Given the description of an element on the screen output the (x, y) to click on. 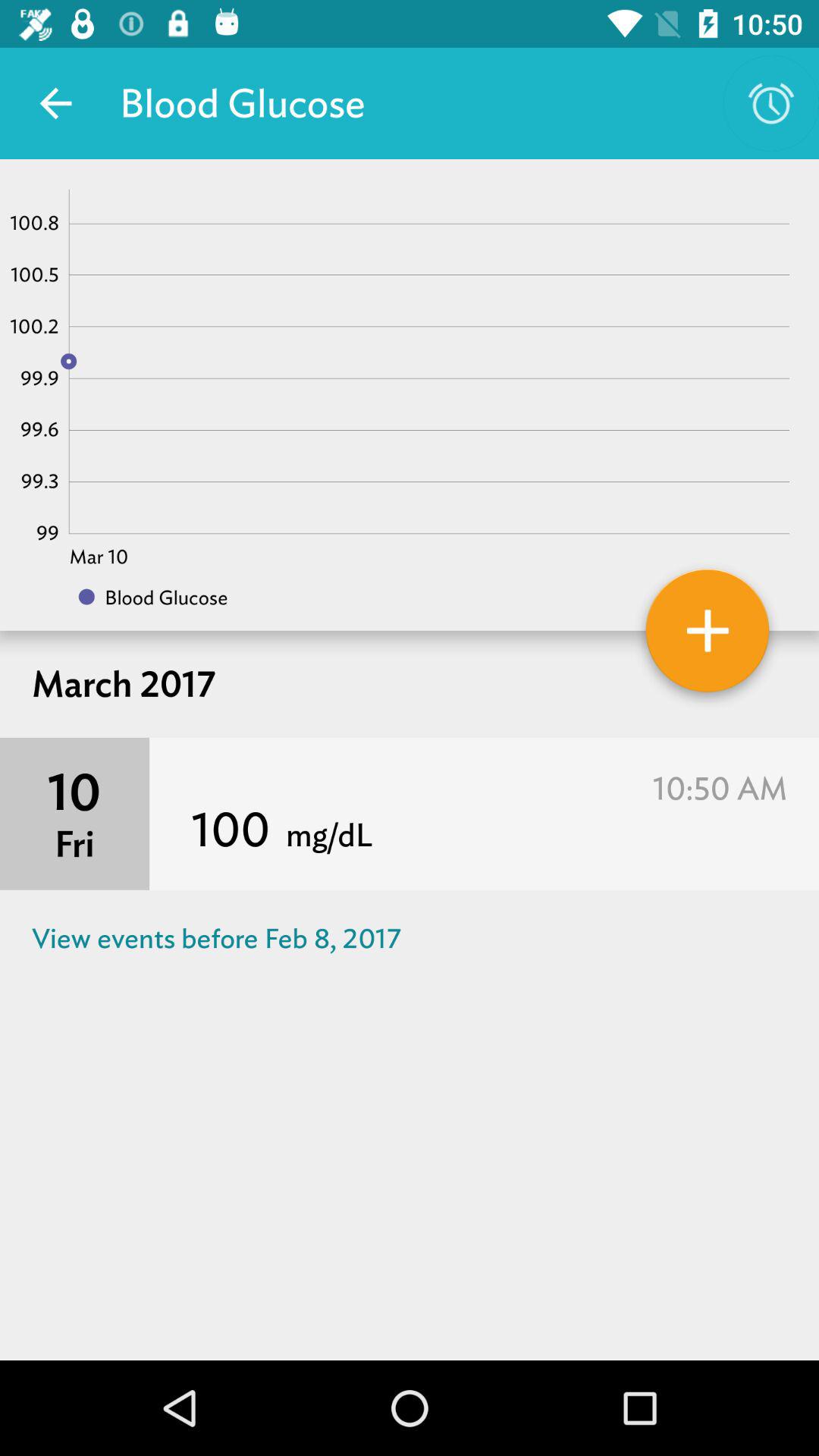
select the icon below the fri item (409, 938)
